Given the description of an element on the screen output the (x, y) to click on. 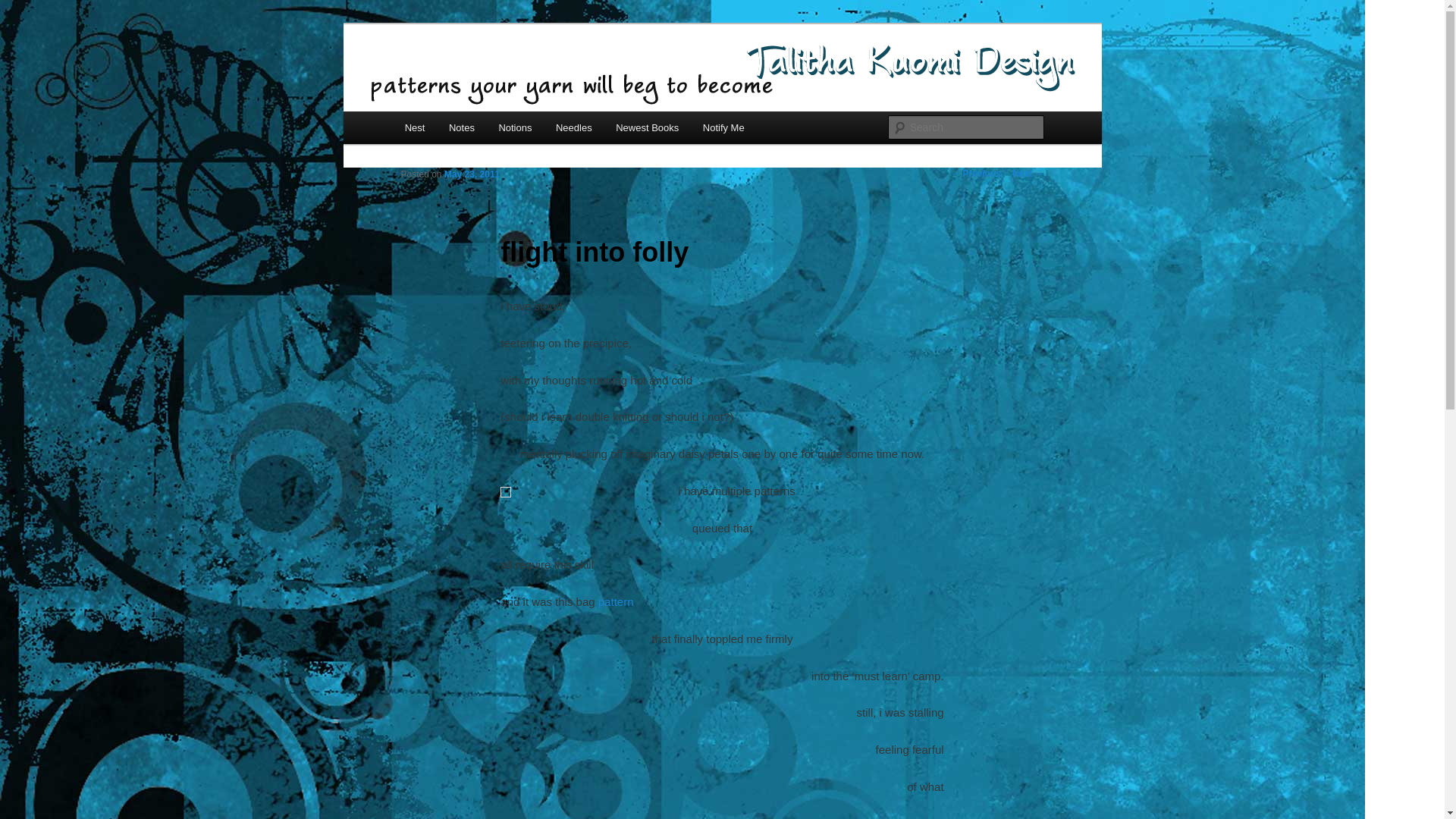
Needles (573, 127)
8:38 pm (471, 173)
Talitha Kuomi (474, 78)
pattern (615, 601)
Nest (414, 127)
Notes (461, 127)
Notions (515, 127)
Newest Books (647, 127)
Search (24, 8)
